Given the description of an element on the screen output the (x, y) to click on. 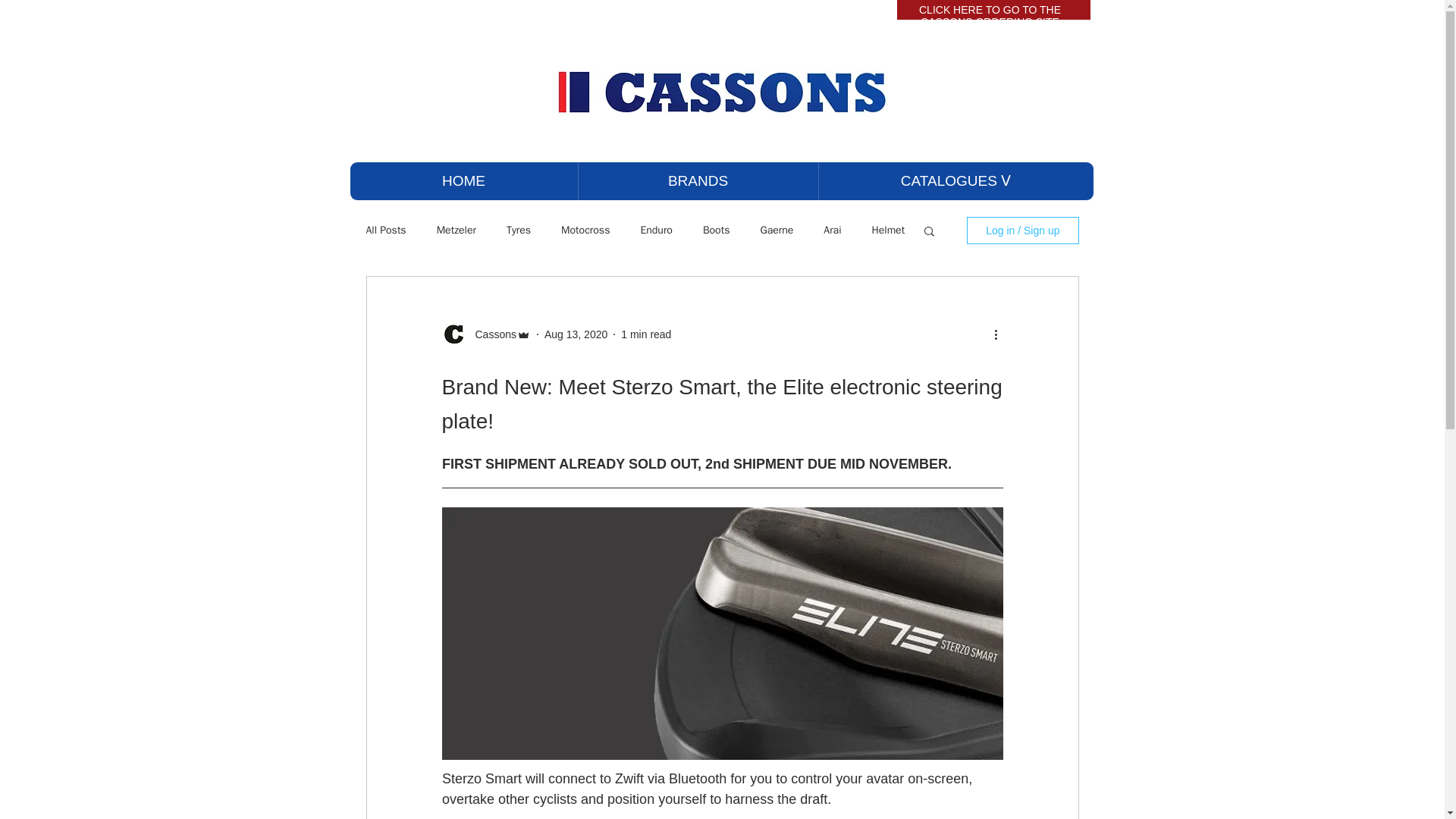
Helmet (888, 230)
Gaerne (776, 230)
HOME (464, 180)
Metzeler (456, 230)
BRANDS (698, 180)
Cassons (490, 333)
Aug 13, 2020 (575, 333)
Enduro (656, 230)
Arai (832, 230)
Tyres (518, 230)
